Given the description of an element on the screen output the (x, y) to click on. 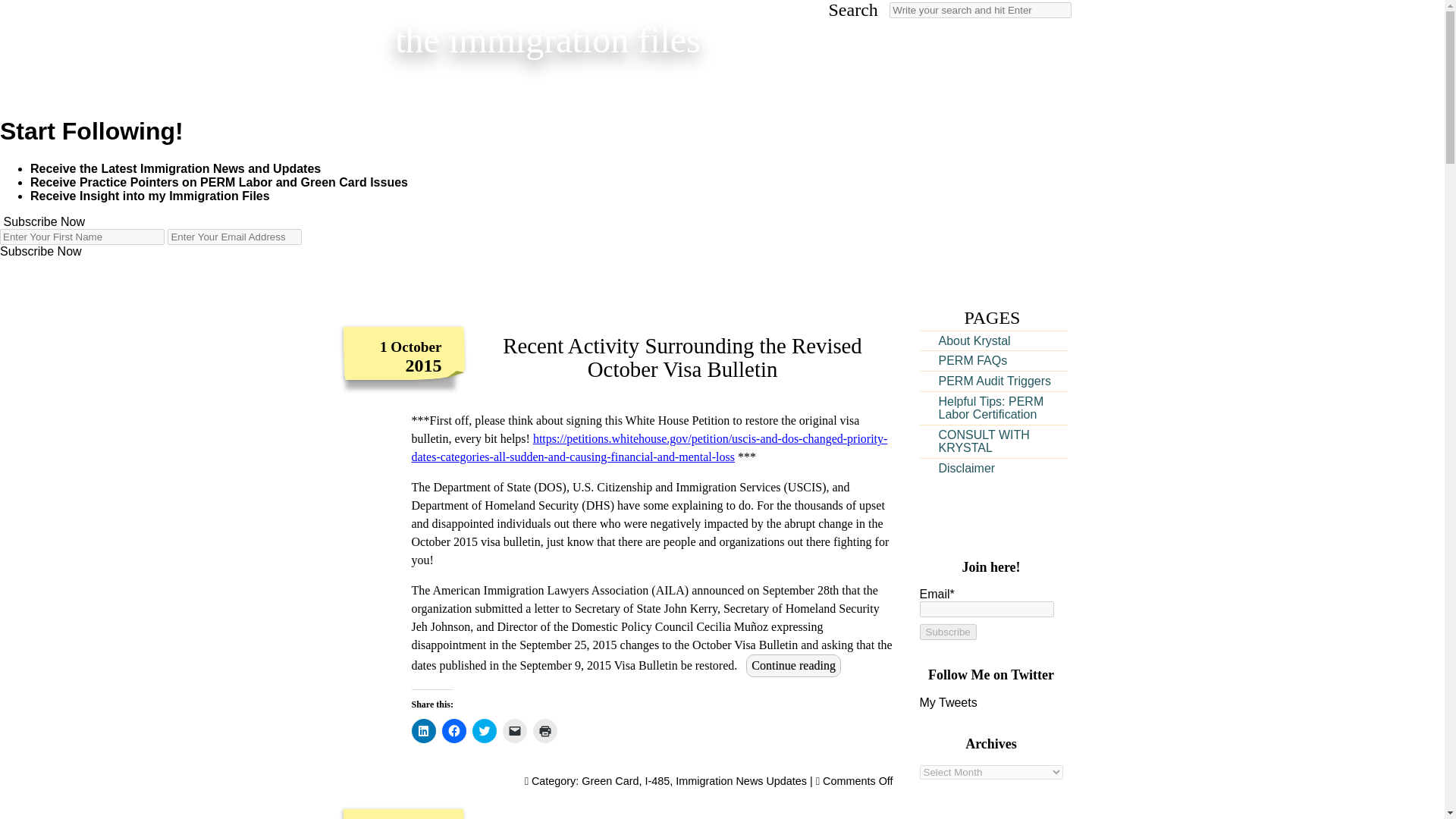
Click to share on Twitter (483, 730)
Continue reading (793, 665)
Search (980, 10)
Subscribe Now (42, 221)
Subscribe (946, 631)
Click to email a link to a friend (513, 730)
Click to share on Facebook (453, 730)
the immigration files (547, 40)
the immigration files (547, 40)
